Given the description of an element on the screen output the (x, y) to click on. 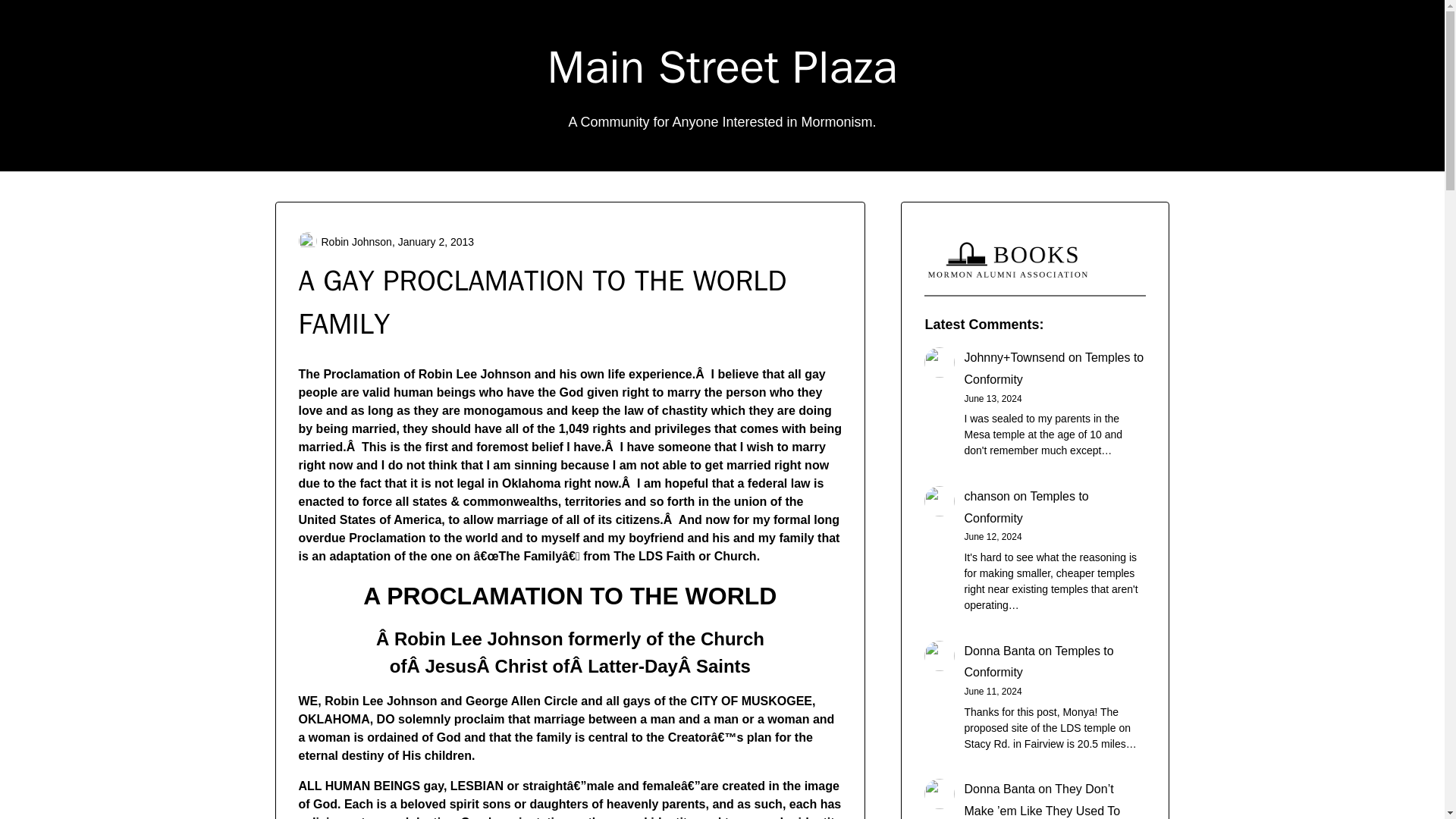
Temples to Conformity (1052, 368)
Main Street Plaza (722, 67)
chanson (986, 495)
January 2, 2013 (435, 241)
Temples to Conformity (1025, 506)
Donna Banta (998, 650)
